Given the description of an element on the screen output the (x, y) to click on. 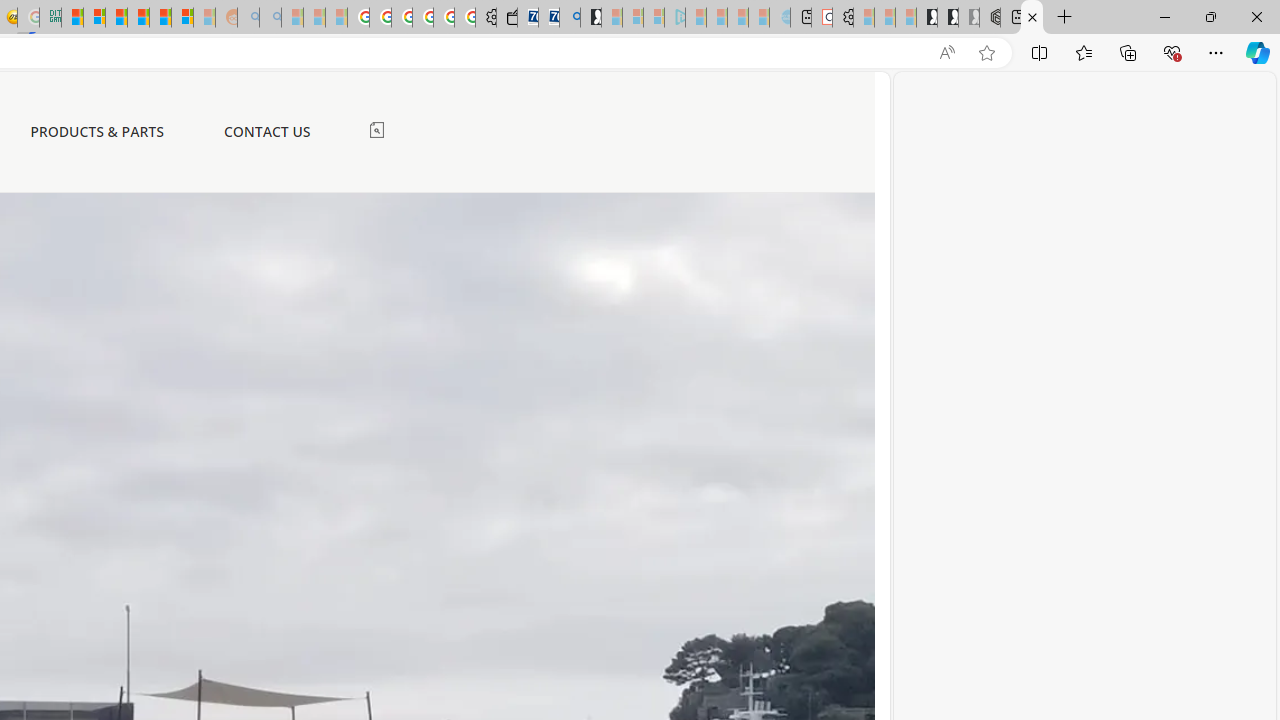
Kinda Frugal - MSN (160, 17)
PRODUCTS & PARTS (97, 132)
